Given the description of an element on the screen output the (x, y) to click on. 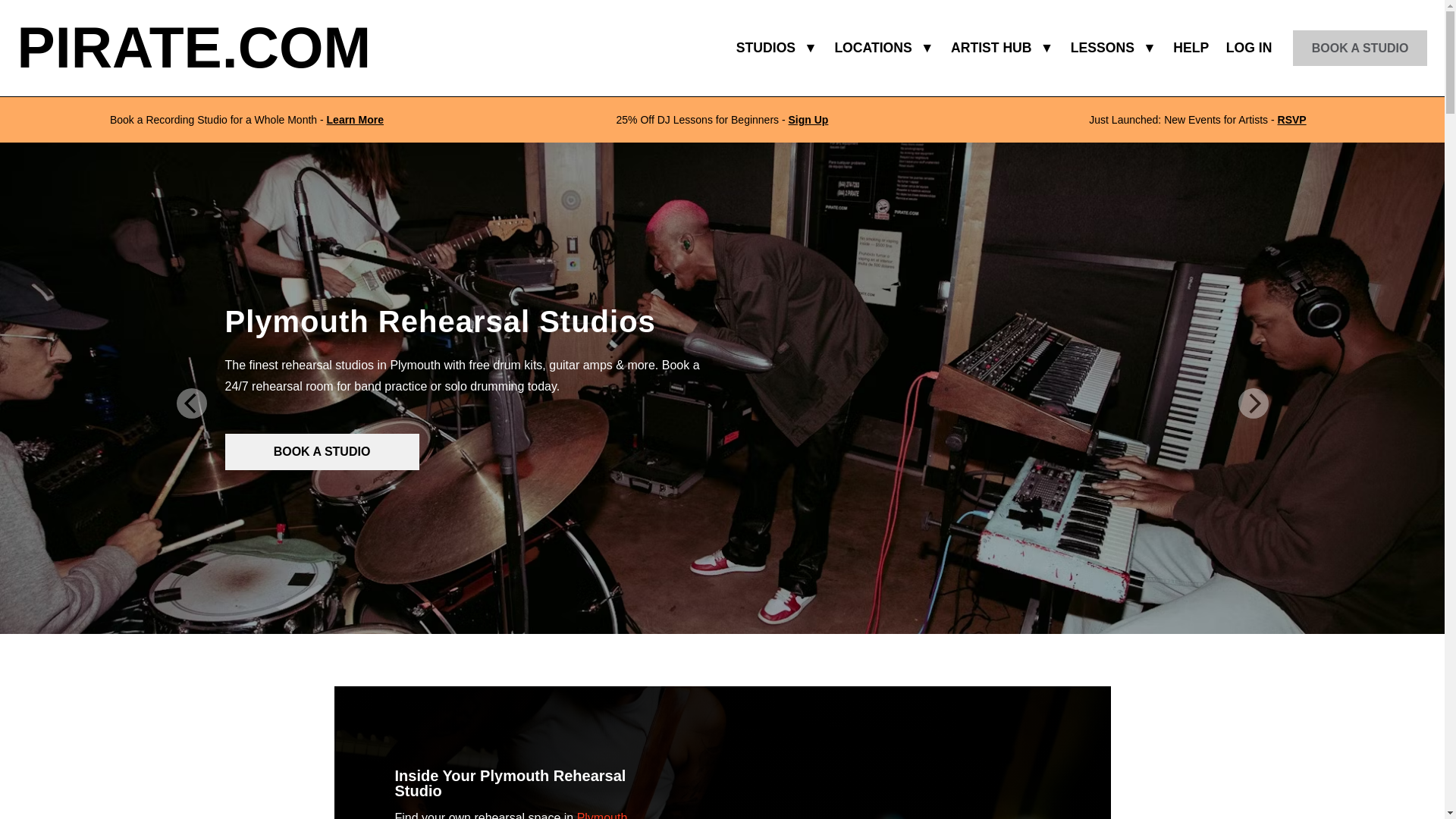
PIRATE.COM (194, 47)
